Given the description of an element on the screen output the (x, y) to click on. 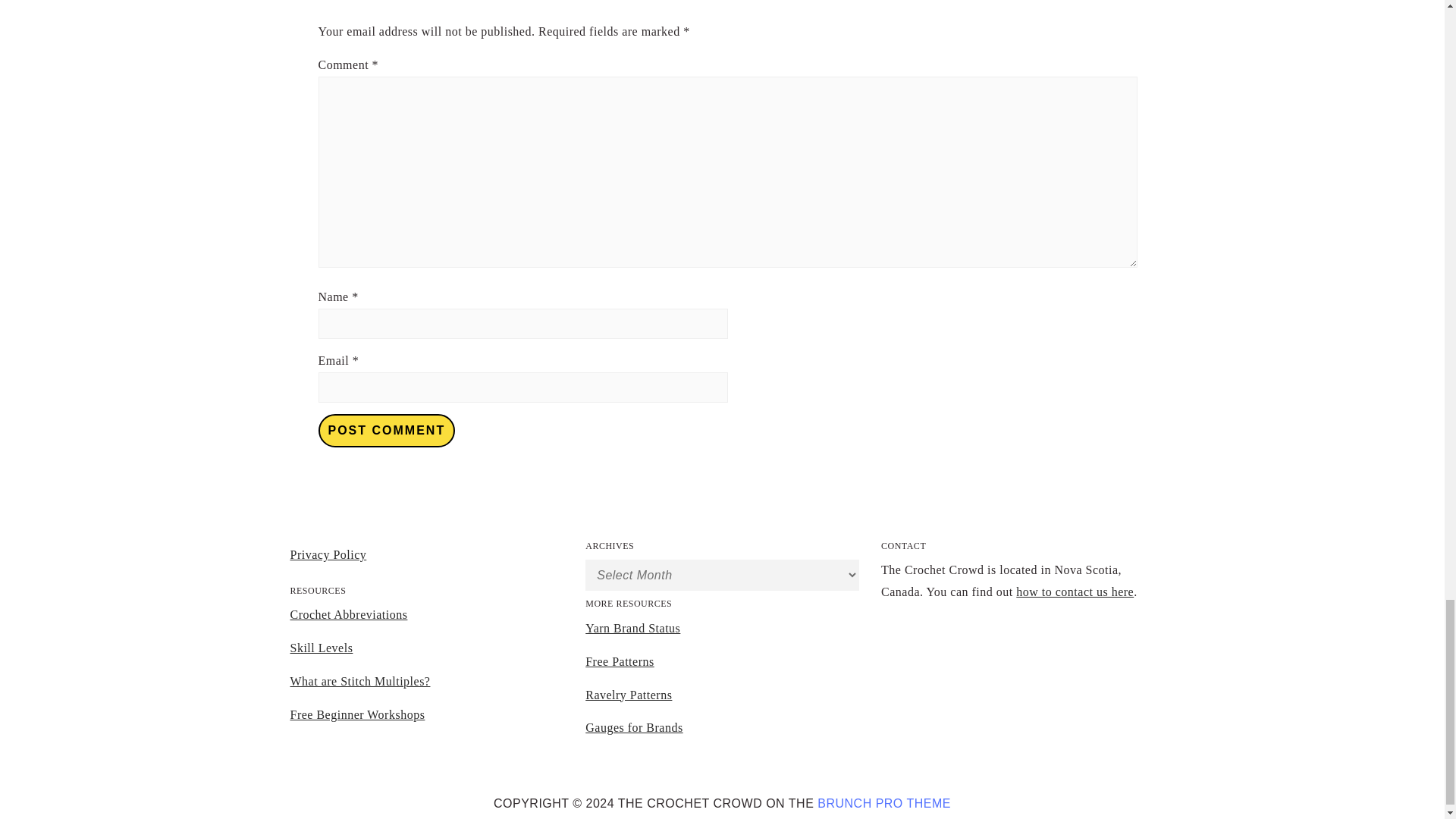
Privacy Policy (327, 554)
Post Comment (386, 430)
Crochet Abbreviations (348, 614)
Post Comment (386, 430)
